Given the description of an element on the screen output the (x, y) to click on. 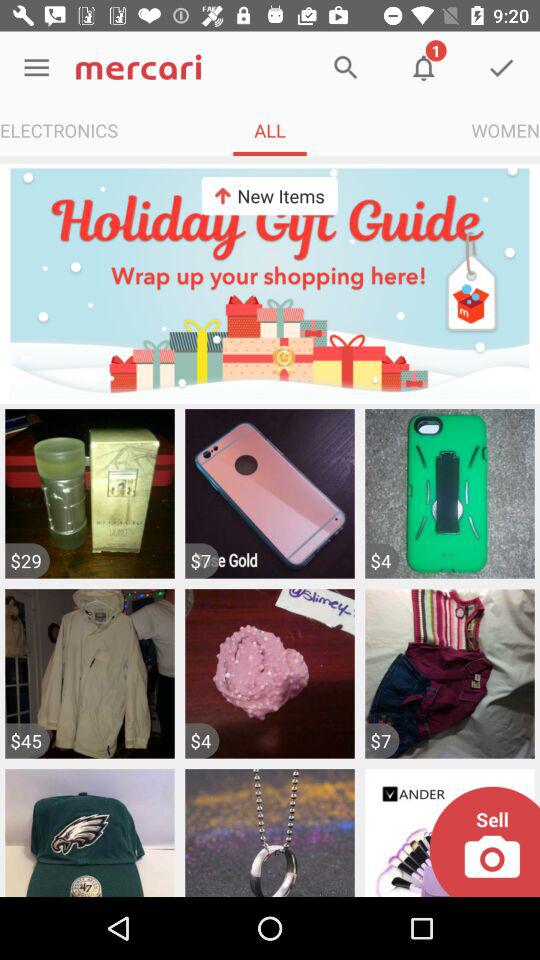
launch icon next to the all item (505, 130)
